Given the description of an element on the screen output the (x, y) to click on. 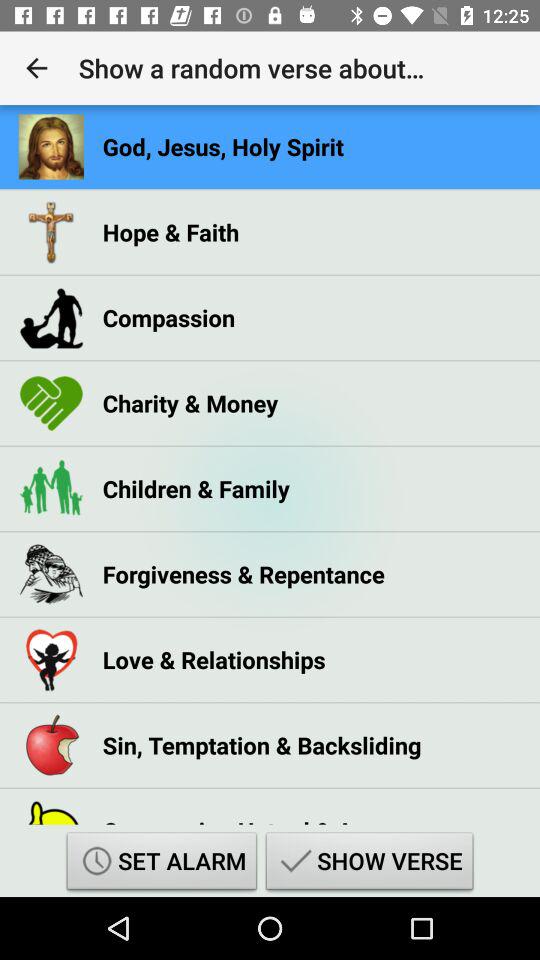
jump to god jesus holy (223, 146)
